Given the description of an element on the screen output the (x, y) to click on. 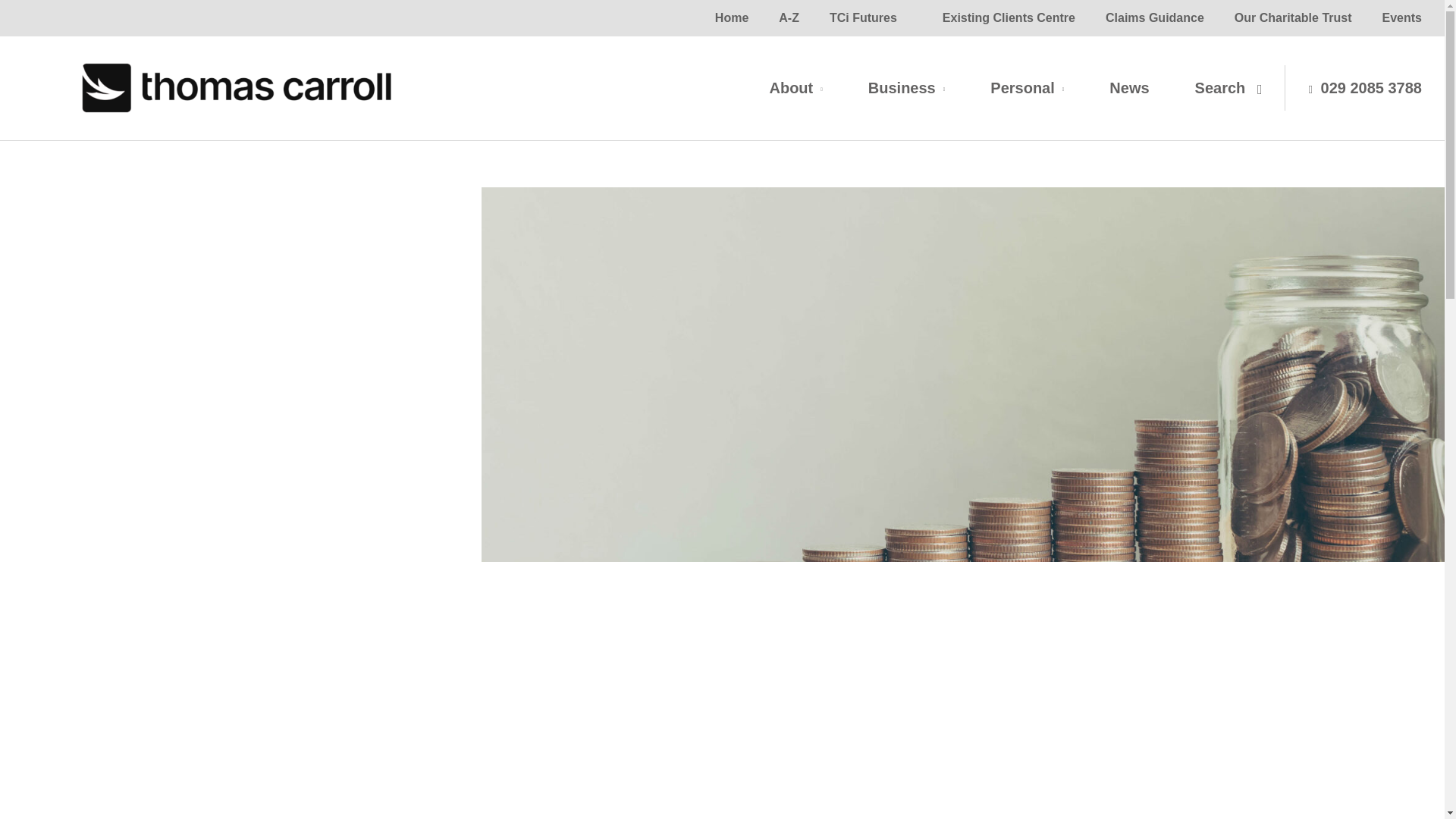
TCi Futures (862, 18)
Our Charitable Trust (1293, 18)
Business (905, 88)
A-Z (787, 18)
Existing Clients Centre (1008, 18)
Events (1402, 18)
Home (731, 18)
Claims Guidance (1155, 18)
